Given the description of an element on the screen output the (x, y) to click on. 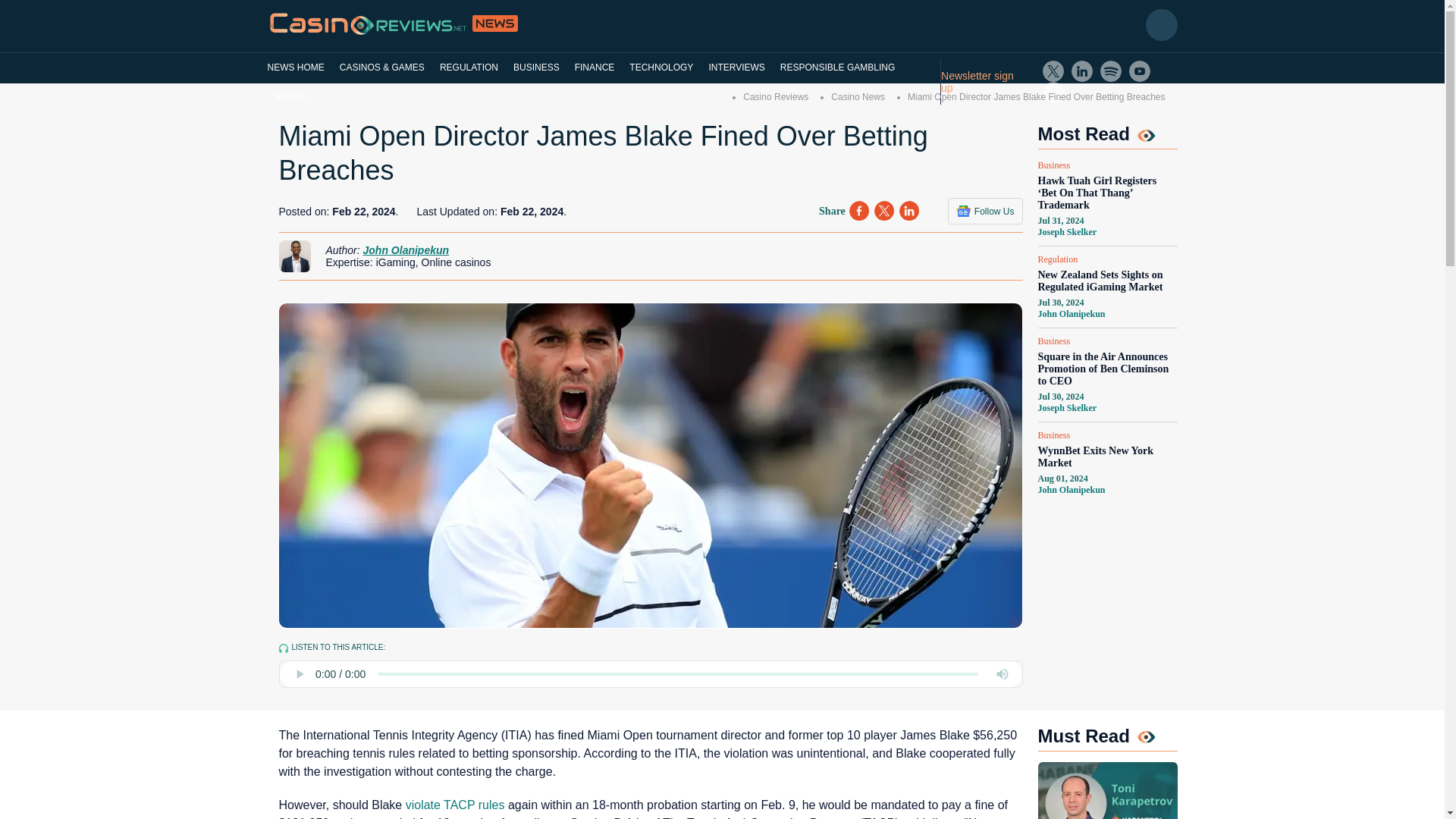
Follow Us (985, 211)
Joseph Skelker (1066, 407)
NEWS HOME (298, 67)
VEGAS (289, 95)
TECHNOLOGY (660, 67)
WynnBet Exits New York Market (1106, 457)
Newsletter sign up (983, 81)
REGULATION (468, 67)
John Olanipekun (1070, 489)
Facebook (1053, 92)
LinkedIn (1082, 70)
X (1053, 70)
New Zealand Sets Sights on Regulated iGaming Market (1106, 281)
Spotify (1110, 70)
